Given the description of an element on the screen output the (x, y) to click on. 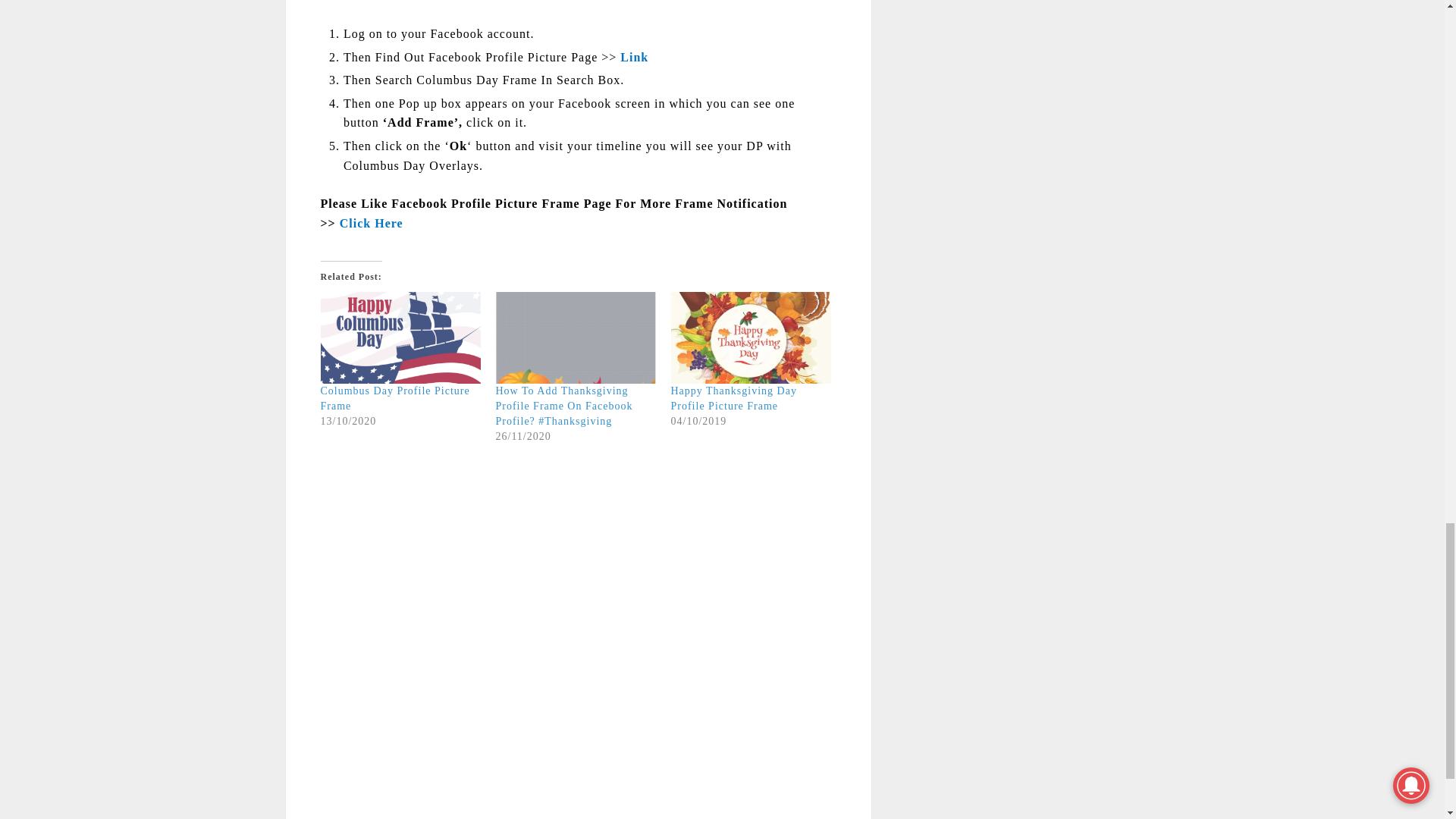
Columbus Day Profile Picture Frame (394, 397)
Happy Thanksgiving Day Profile Picture Frame (749, 337)
Columbus Day Profile Picture Frame (400, 337)
Link (633, 56)
Happy Thanksgiving Day Profile Picture Frame (732, 397)
 Click Here (369, 223)
Columbus Day Profile Picture Frame (394, 397)
Happy Thanksgiving Day Profile Picture Frame (732, 397)
